Given the description of an element on the screen output the (x, y) to click on. 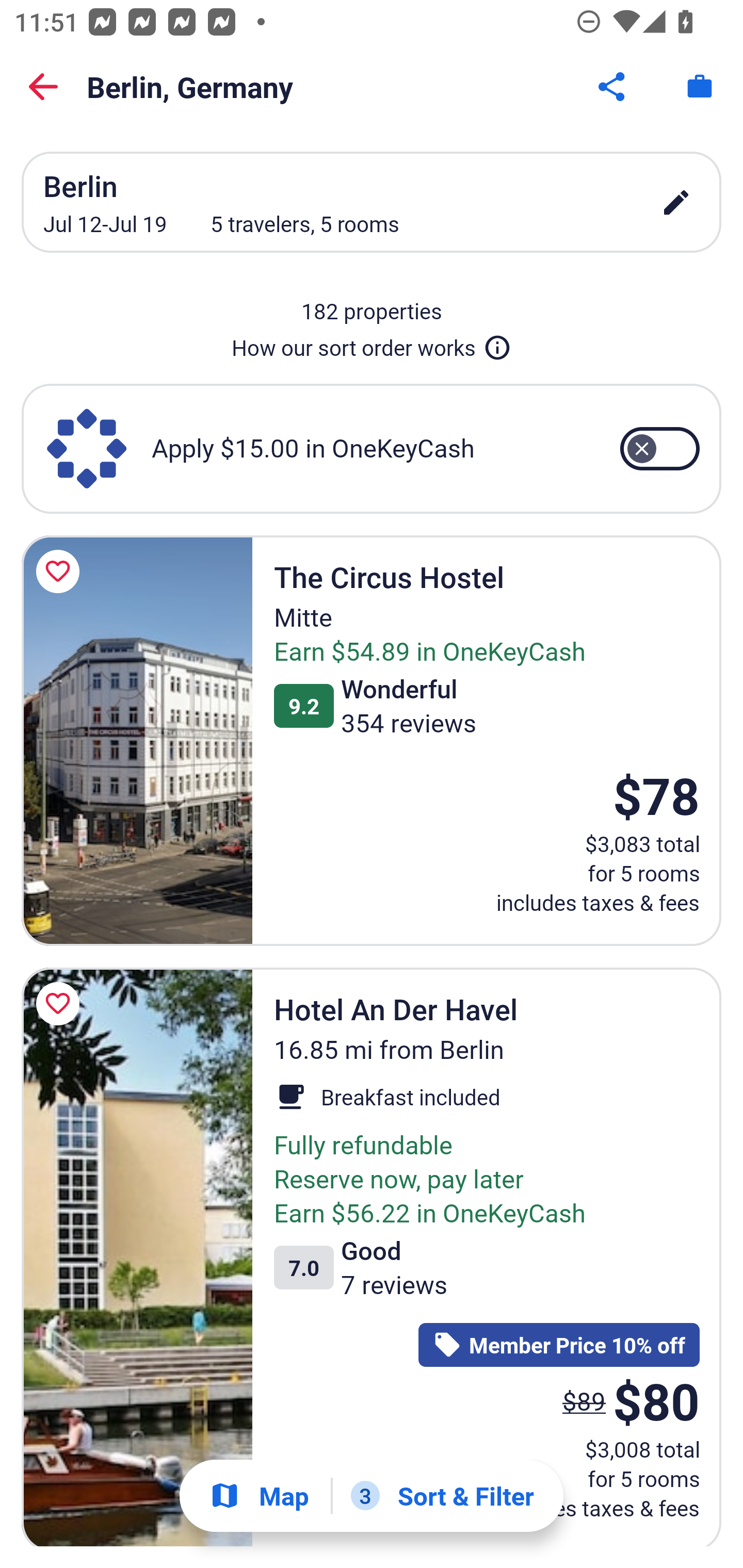
Back (43, 86)
Share Button (612, 86)
Trips. Button (699, 86)
Berlin Jul 12-Jul 19 5 travelers, 5 rooms edit (371, 202)
How our sort order works (371, 344)
Save The Circus Hostel to a trip (61, 571)
The Circus Hostel (136, 739)
Save Hotel An Der Havel to a trip (61, 1003)
Hotel An Der Havel (136, 1256)
$89 The price was $89 (583, 1400)
3 Sort & Filter 3 Filters applied. Filters Button (442, 1495)
Show map Map Show map Button (258, 1495)
